Given the description of an element on the screen output the (x, y) to click on. 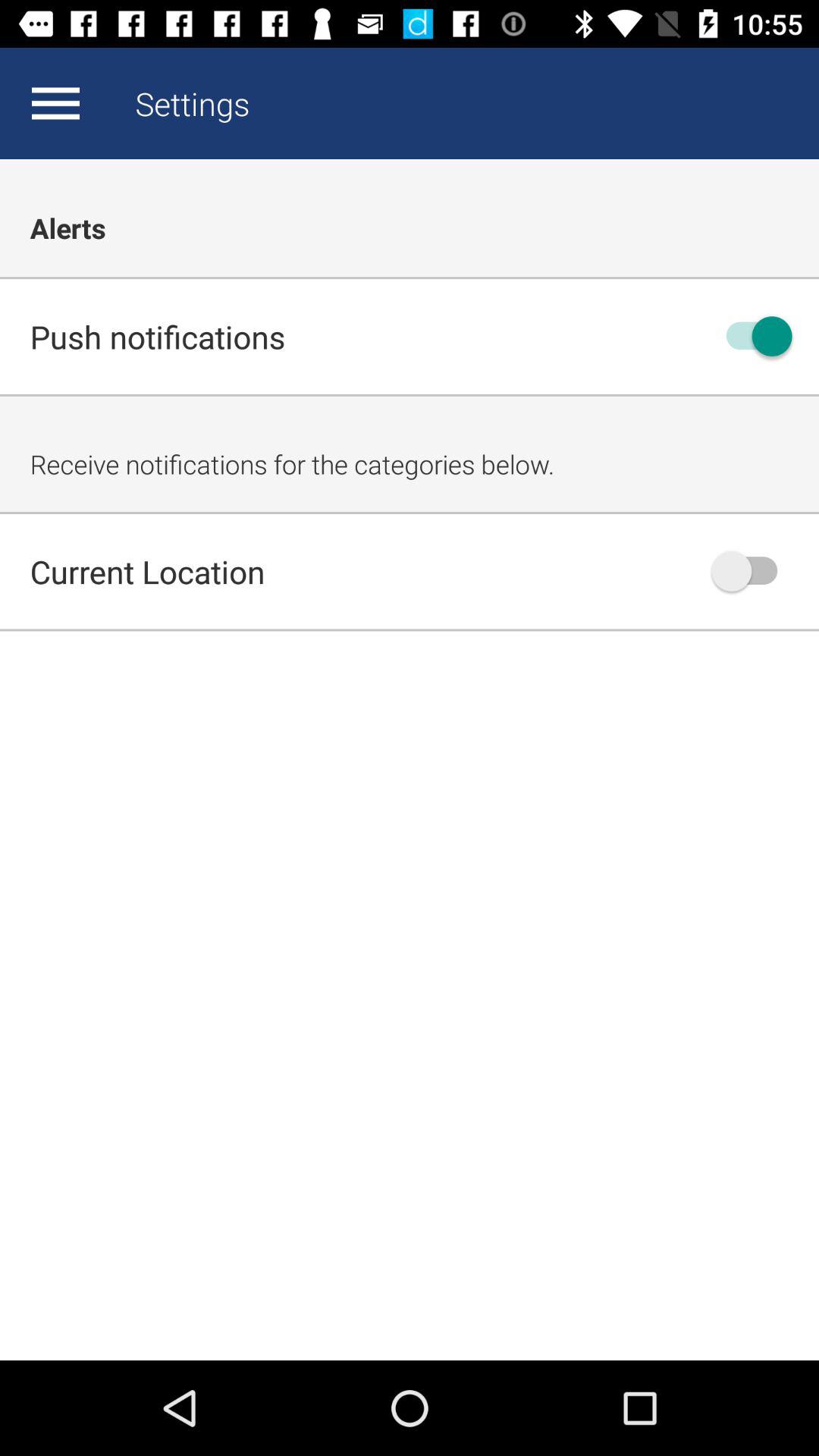
open navigation menu (55, 103)
